Given the description of an element on the screen output the (x, y) to click on. 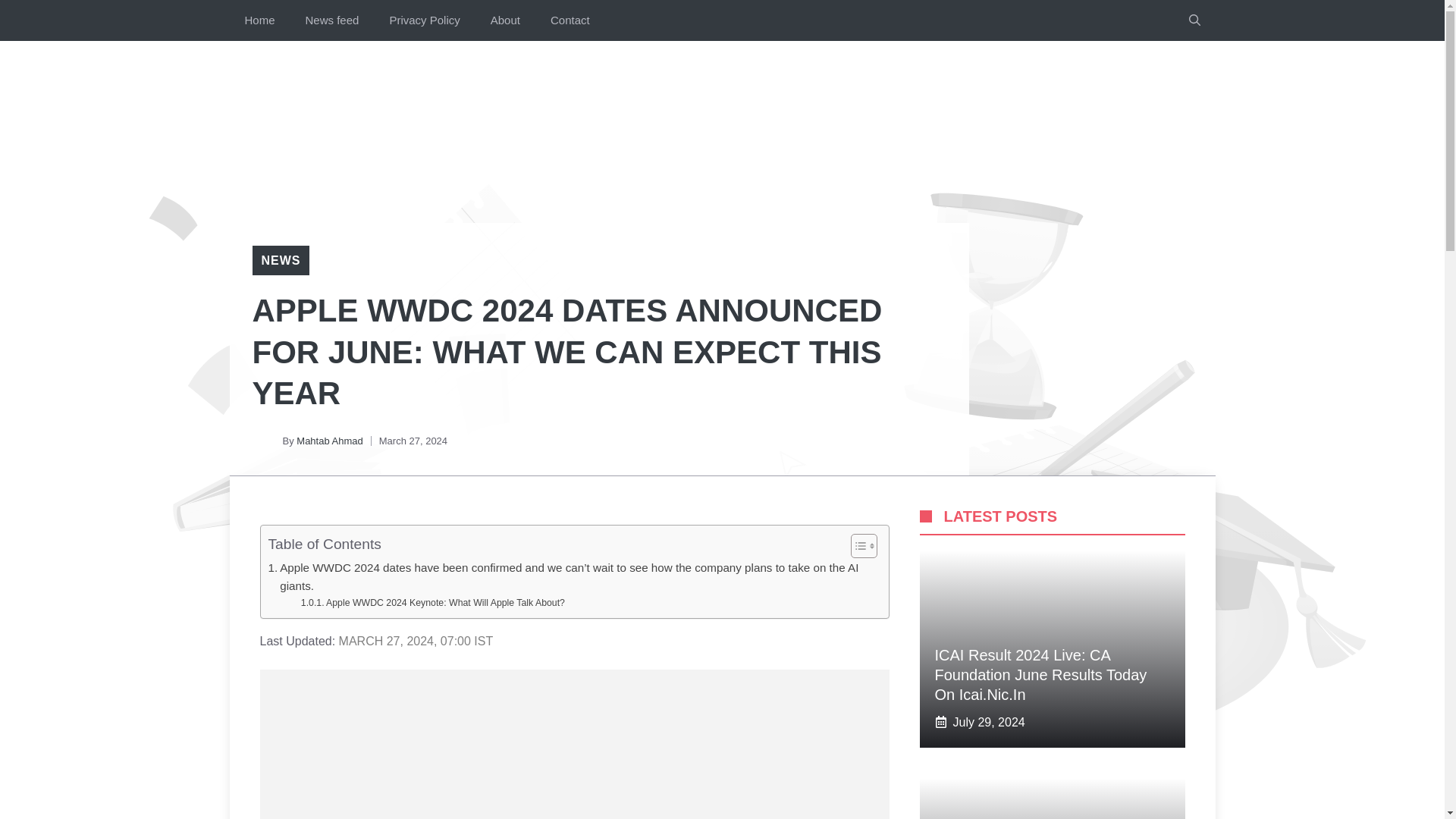
NEWS (279, 259)
News feed (331, 20)
Apple WWDC 2024 Keynote: What Will Apple Talk About? (432, 603)
Apple WWDC 2024 Keynote: What Will Apple Talk About? (432, 603)
Privacy Policy (424, 20)
About (505, 20)
Contact (570, 20)
Mahtab Ahmad (329, 440)
Home (258, 20)
